Given the description of an element on the screen output the (x, y) to click on. 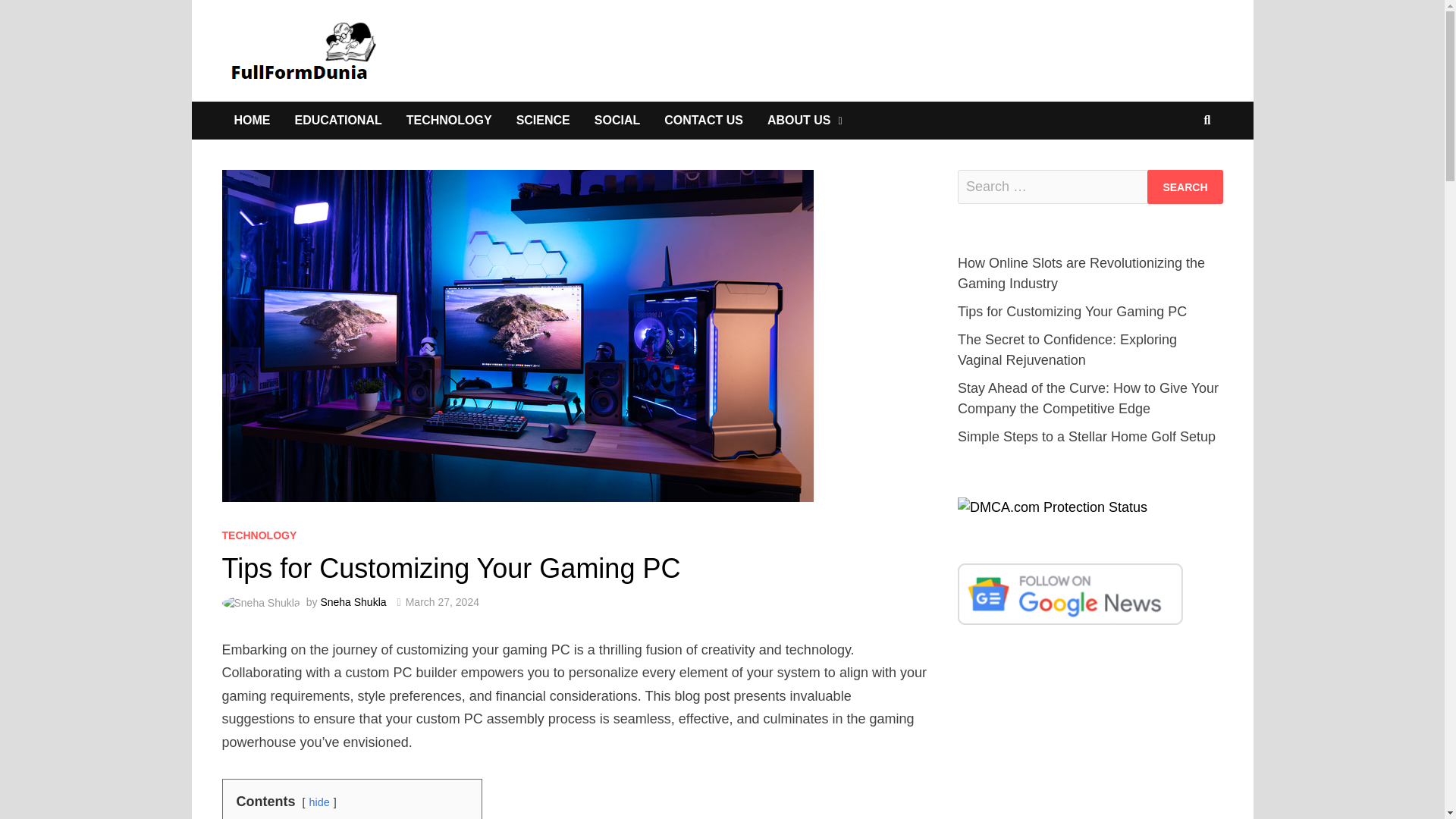
hide (319, 802)
March 27, 2024 (442, 602)
Search (1185, 186)
ABOUT US (804, 120)
SCIENCE (542, 120)
HOME (251, 120)
Sneha Shukla (352, 602)
SOCIAL (617, 120)
EDUCATIONAL (337, 120)
Search (1185, 186)
